Given the description of an element on the screen output the (x, y) to click on. 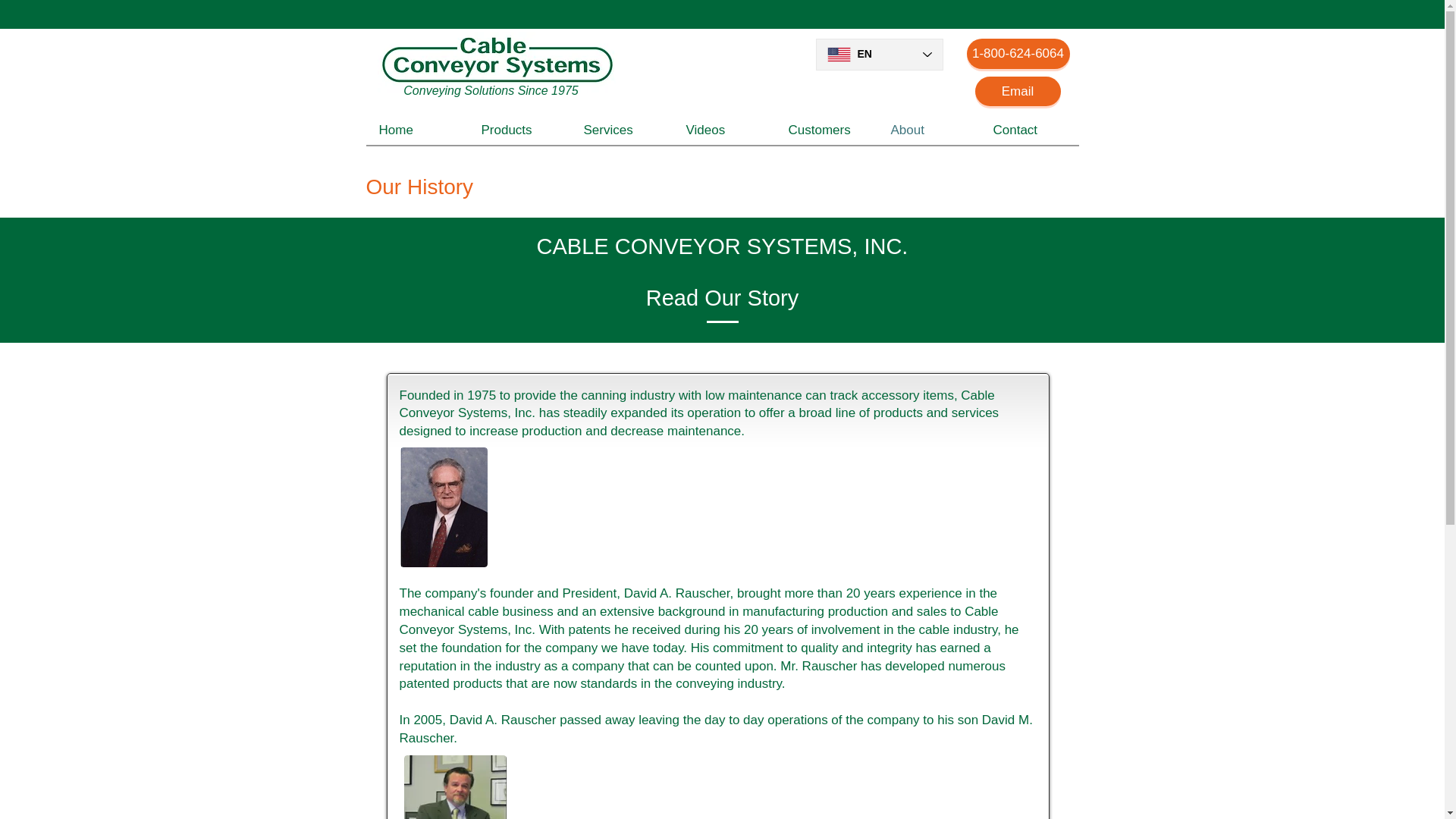
Contact (1030, 130)
Email (1018, 91)
Services (621, 130)
Customers (825, 130)
Videos (724, 130)
Home (416, 130)
Products (519, 130)
1-800-624-6064 (1017, 53)
About (928, 130)
